Given the description of an element on the screen output the (x, y) to click on. 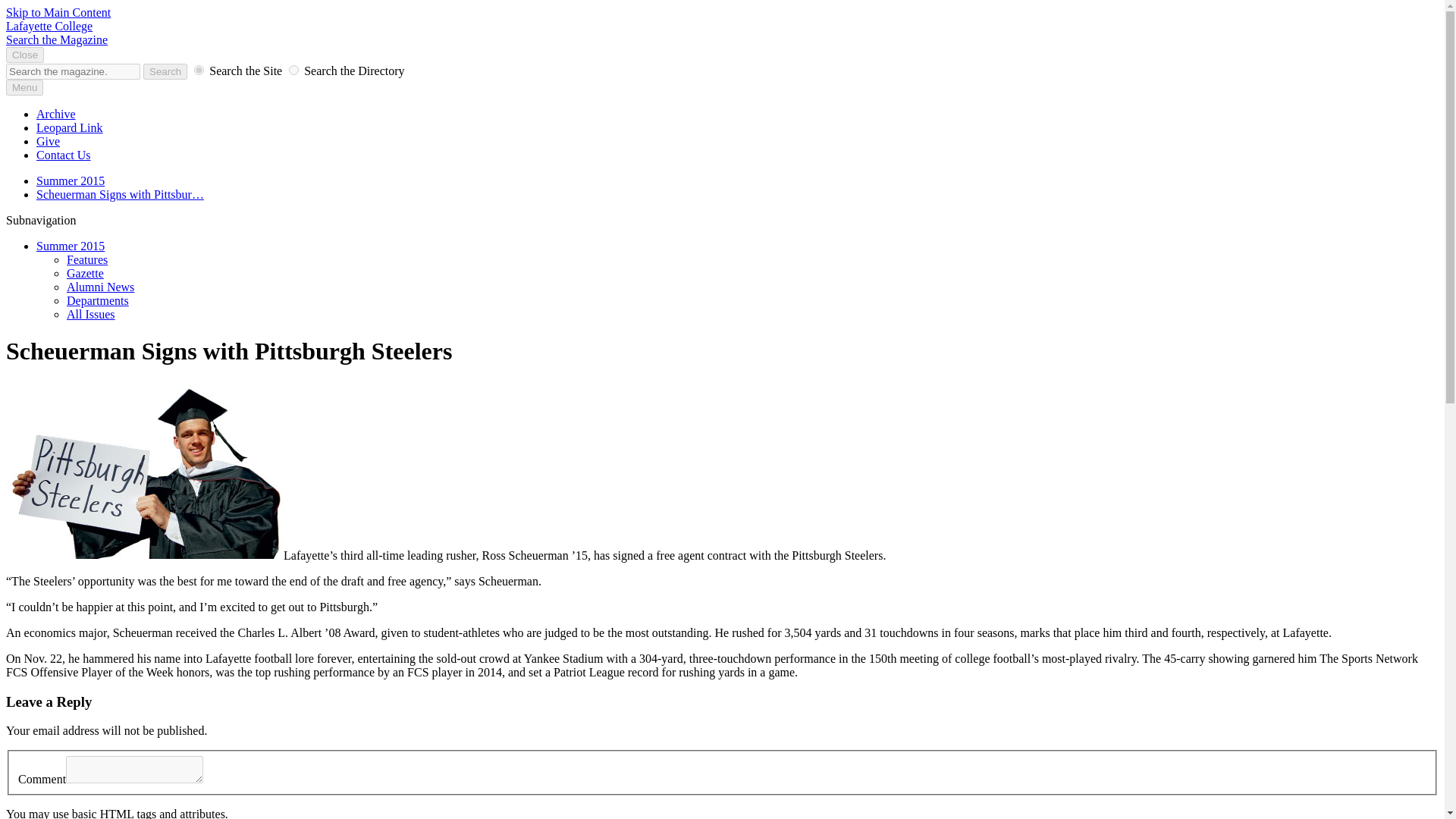
Gazette (84, 273)
Archive (55, 113)
Close (24, 54)
Give (47, 141)
Search (164, 71)
Lafayette College (49, 25)
web (198, 70)
Skip to Main Content (57, 11)
Search (164, 71)
directory (293, 70)
Menu (24, 87)
Summer 2015 (70, 180)
Departments (97, 300)
web (198, 70)
Alumni News (99, 286)
